Given the description of an element on the screen output the (x, y) to click on. 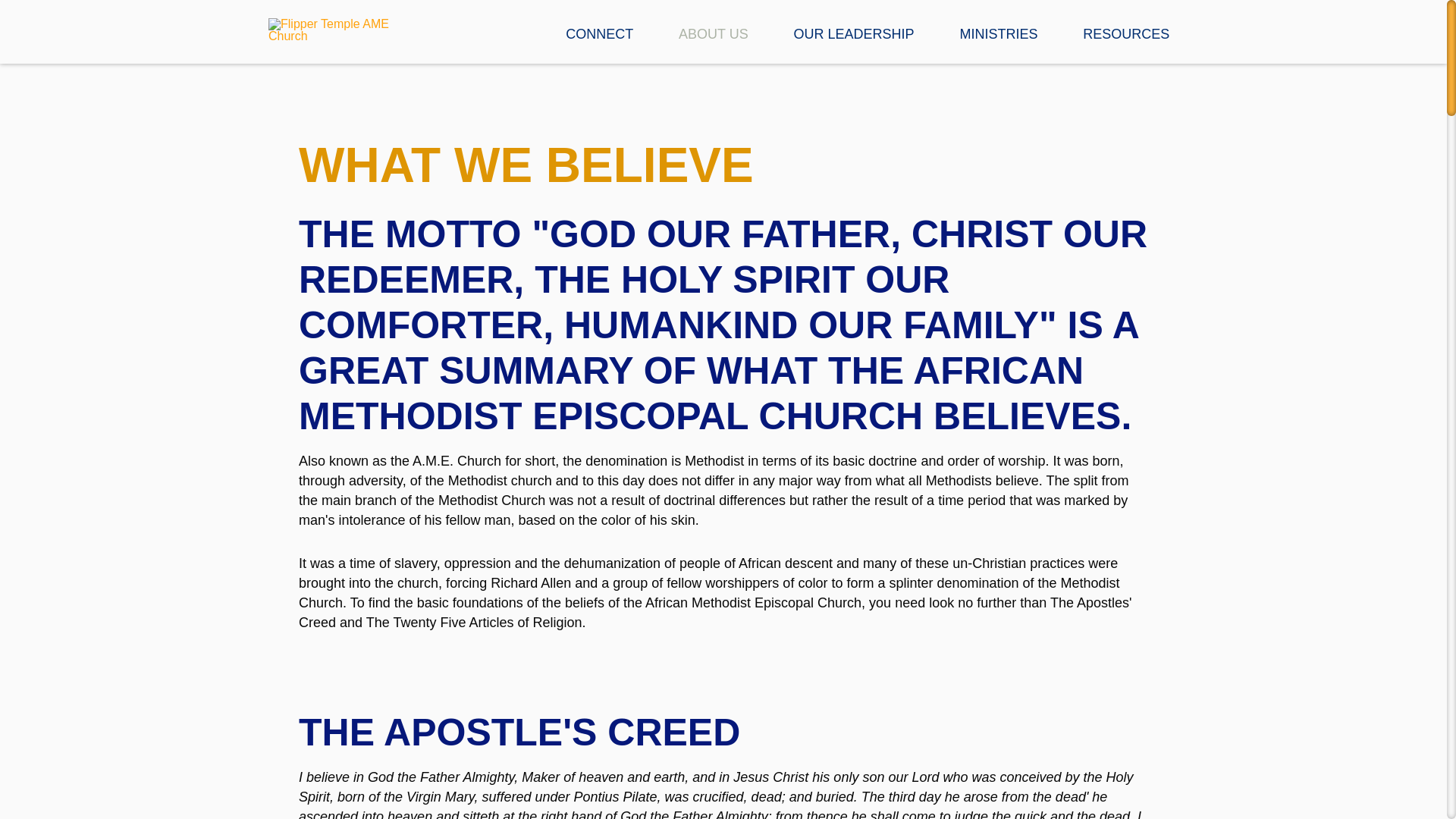
ABOUT US (713, 42)
CONNECT (599, 42)
MINISTRIES (998, 42)
OUR LEADERSHIP (853, 42)
RESOURCES (1125, 42)
